Given the description of an element on the screen output the (x, y) to click on. 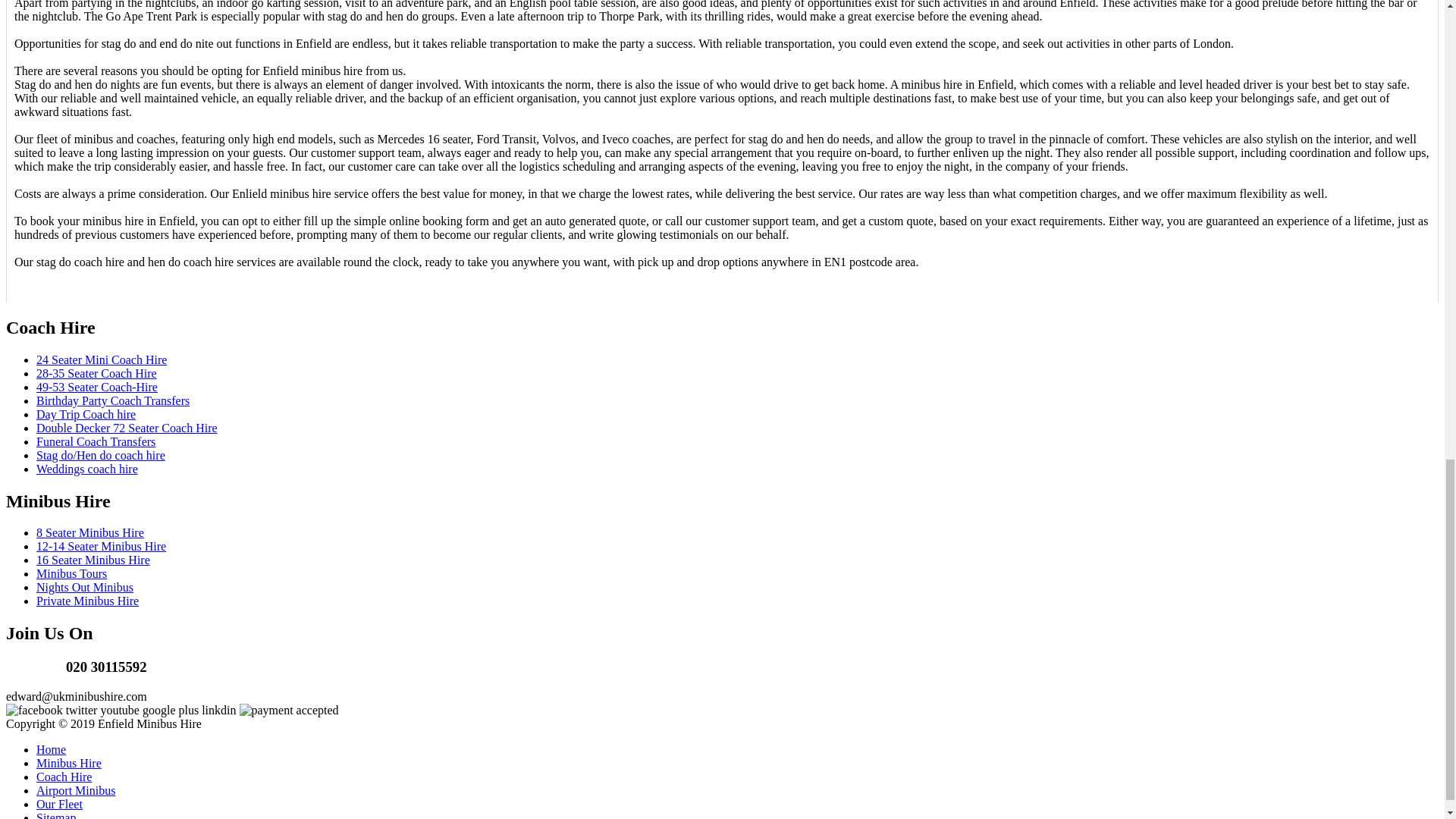
28-35 Seater Coach Hire (96, 373)
49-53 Seater Coach-Hire (96, 386)
Birthday Party Coach Transfers (112, 400)
24 Seater Mini Coach Hire (101, 359)
